Given the description of an element on the screen output the (x, y) to click on. 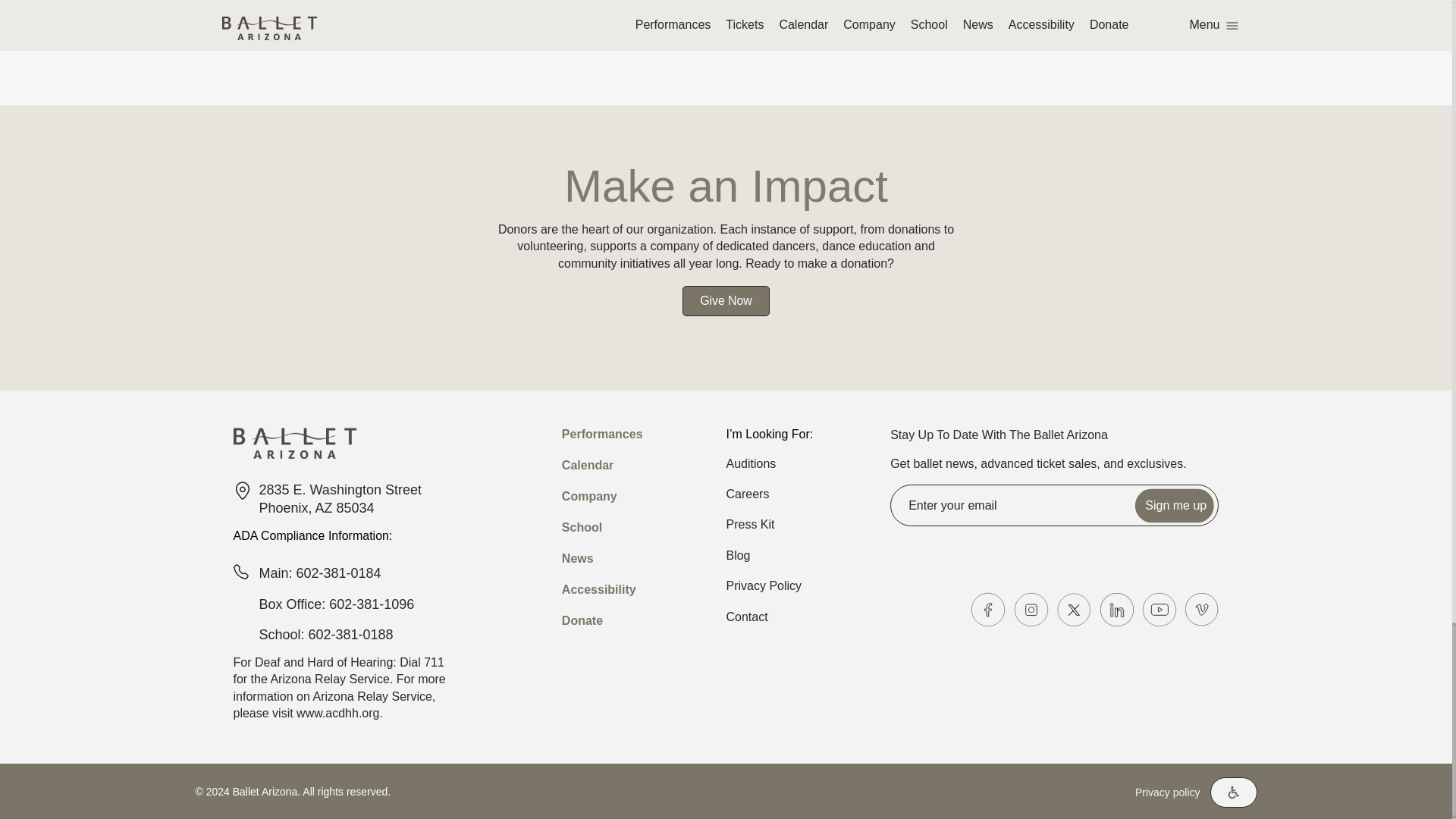
Sign me up (1174, 505)
